Given the description of an element on the screen output the (x, y) to click on. 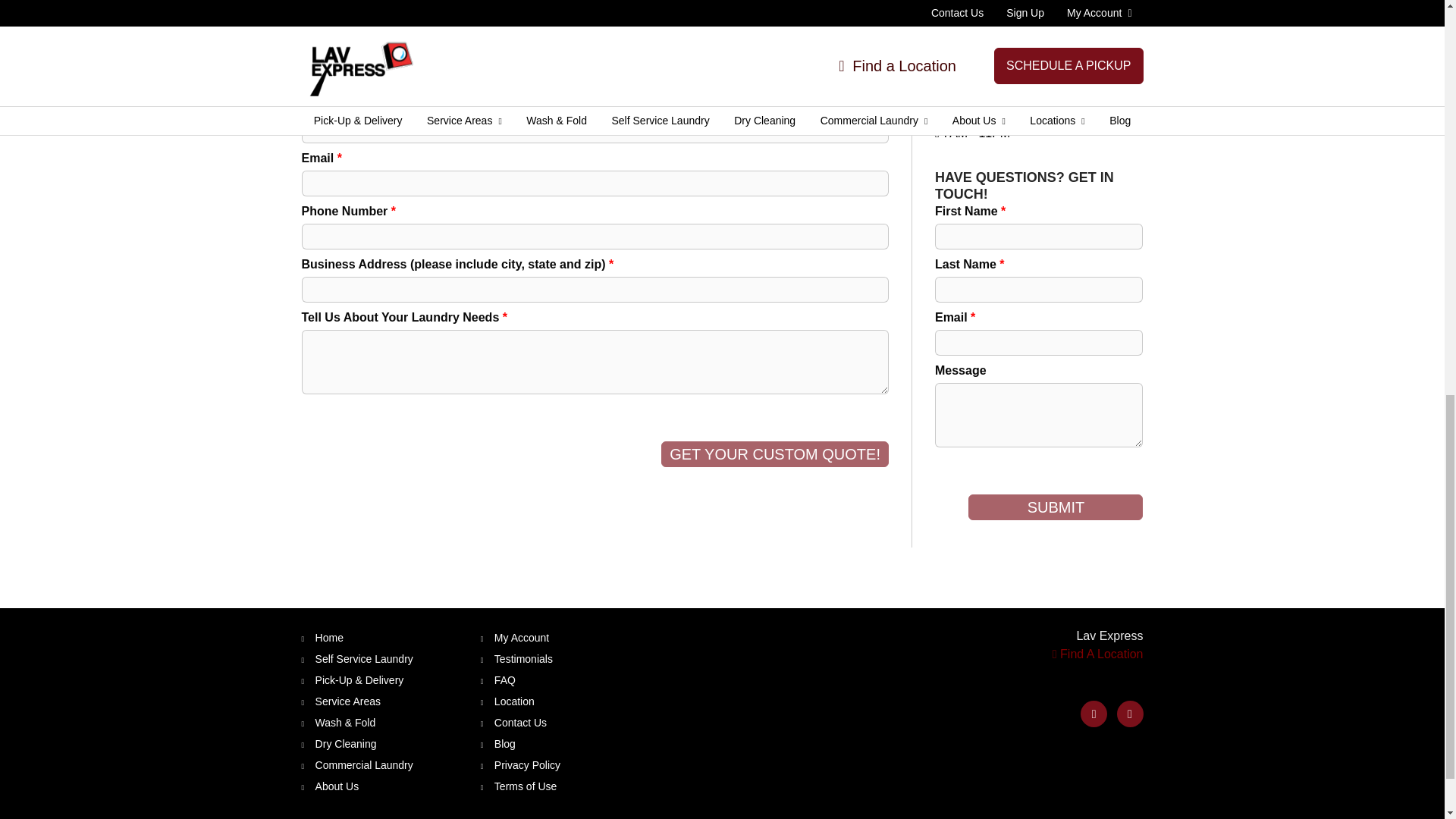
GET YOUR CUSTOM QUOTE! (774, 453)
Submit (1055, 507)
